Given the description of an element on the screen output the (x, y) to click on. 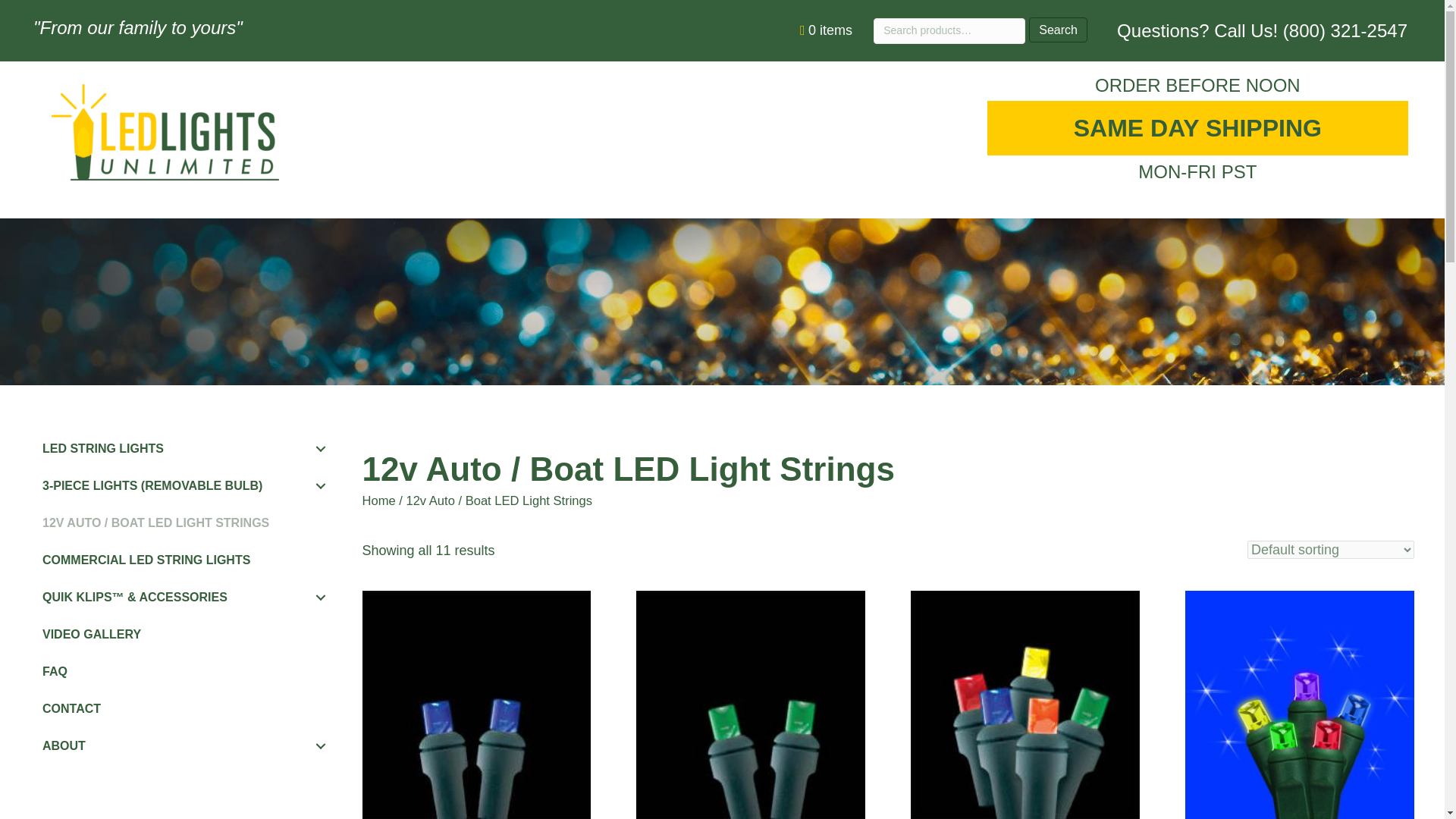
Start shopping (829, 30)
logo - hunter green (164, 131)
Search (1058, 29)
0 items (829, 30)
